Given the description of an element on the screen output the (x, y) to click on. 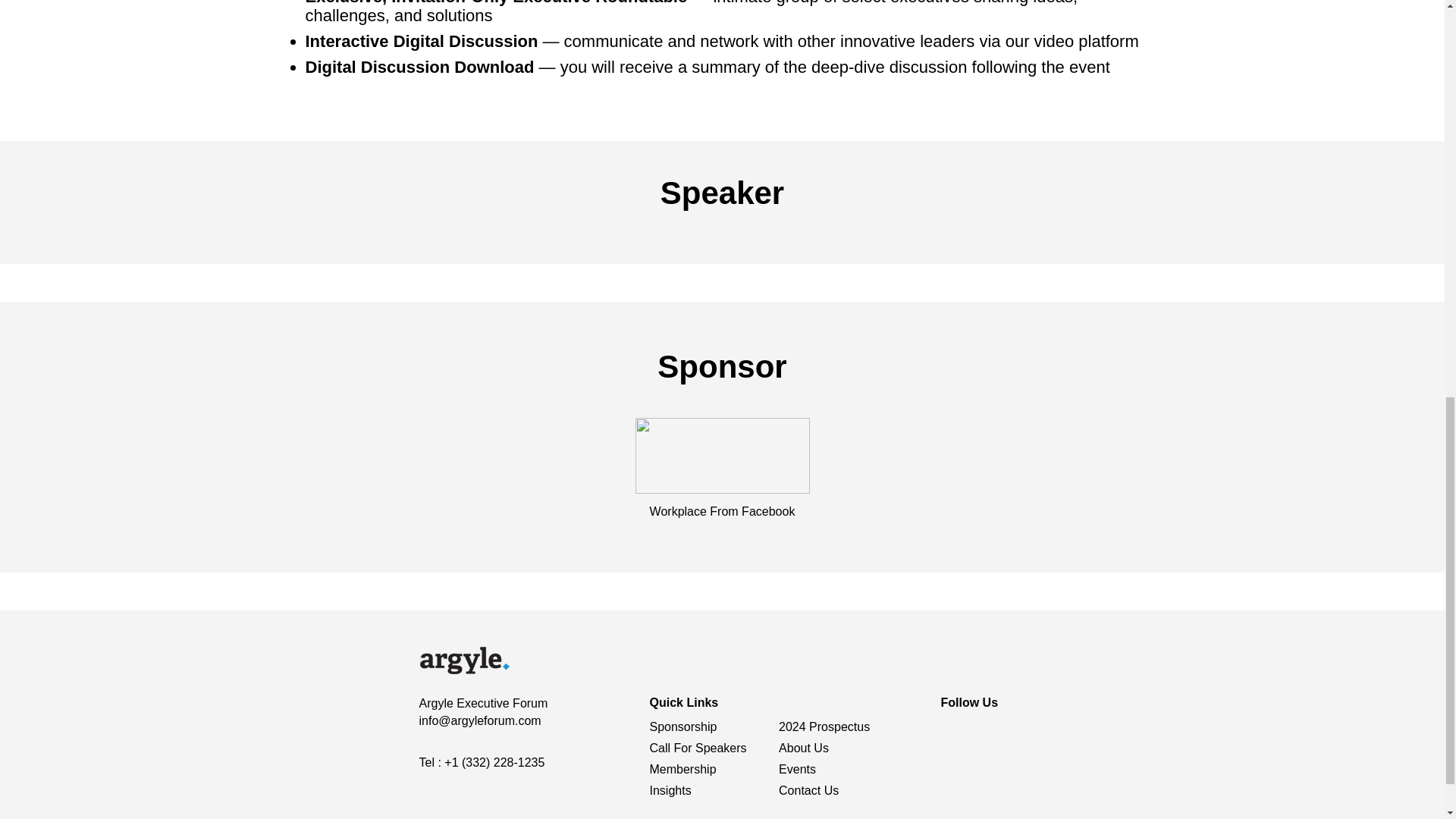
Insights (669, 789)
Workplace From Facebook (721, 511)
About Us (803, 748)
Events (796, 768)
Call For Speakers (697, 748)
Sponsorship (682, 726)
2024 Prospectus (823, 726)
Contact Us (808, 789)
Membership (682, 768)
